Given the description of an element on the screen output the (x, y) to click on. 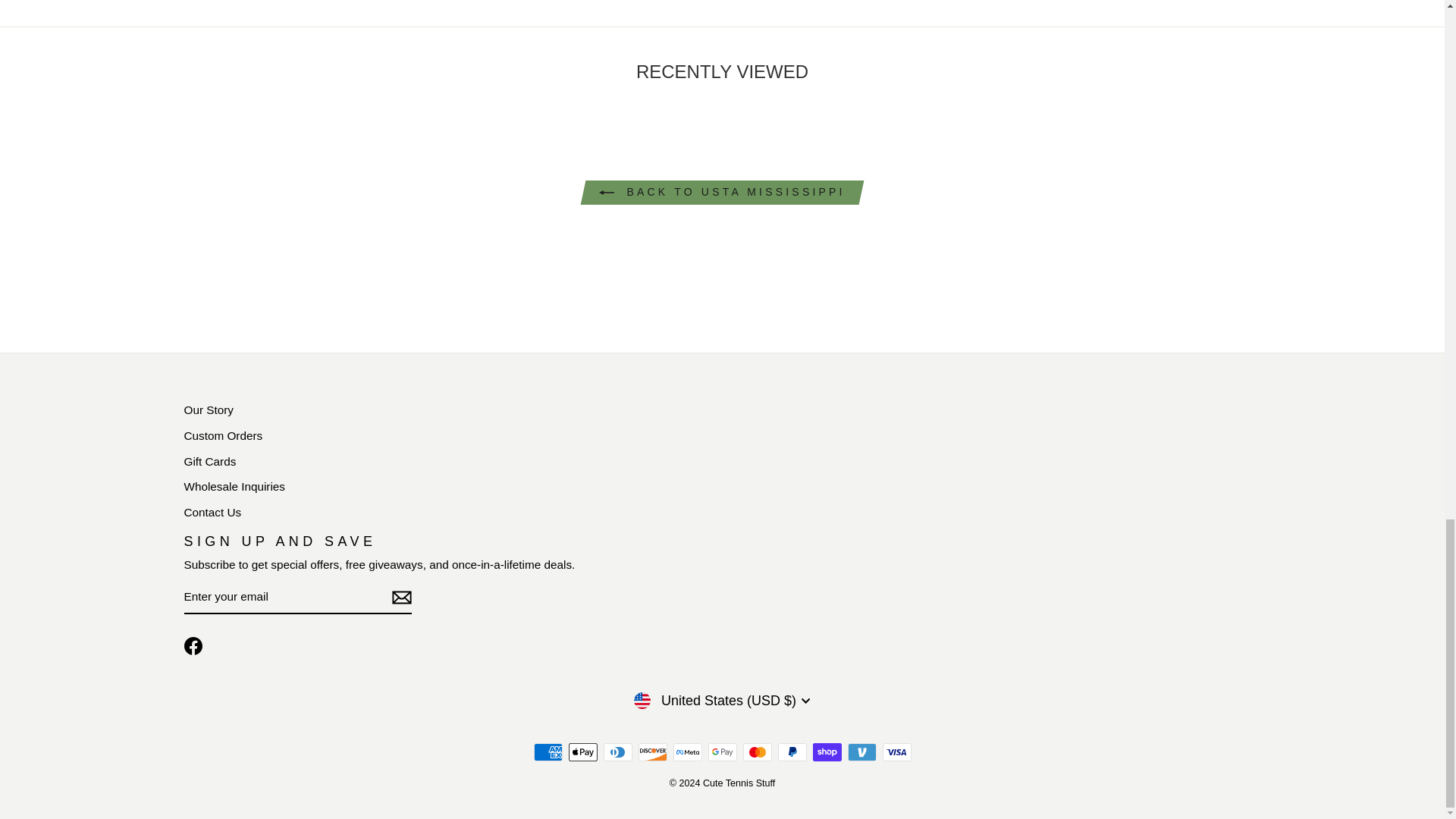
Google Pay (721, 751)
American Express (548, 751)
Discover (652, 751)
Apple Pay (582, 751)
Meta Pay (686, 751)
Cute Tennis Stuff on Facebook (192, 646)
Diners Club (617, 751)
